Given the description of an element on the screen output the (x, y) to click on. 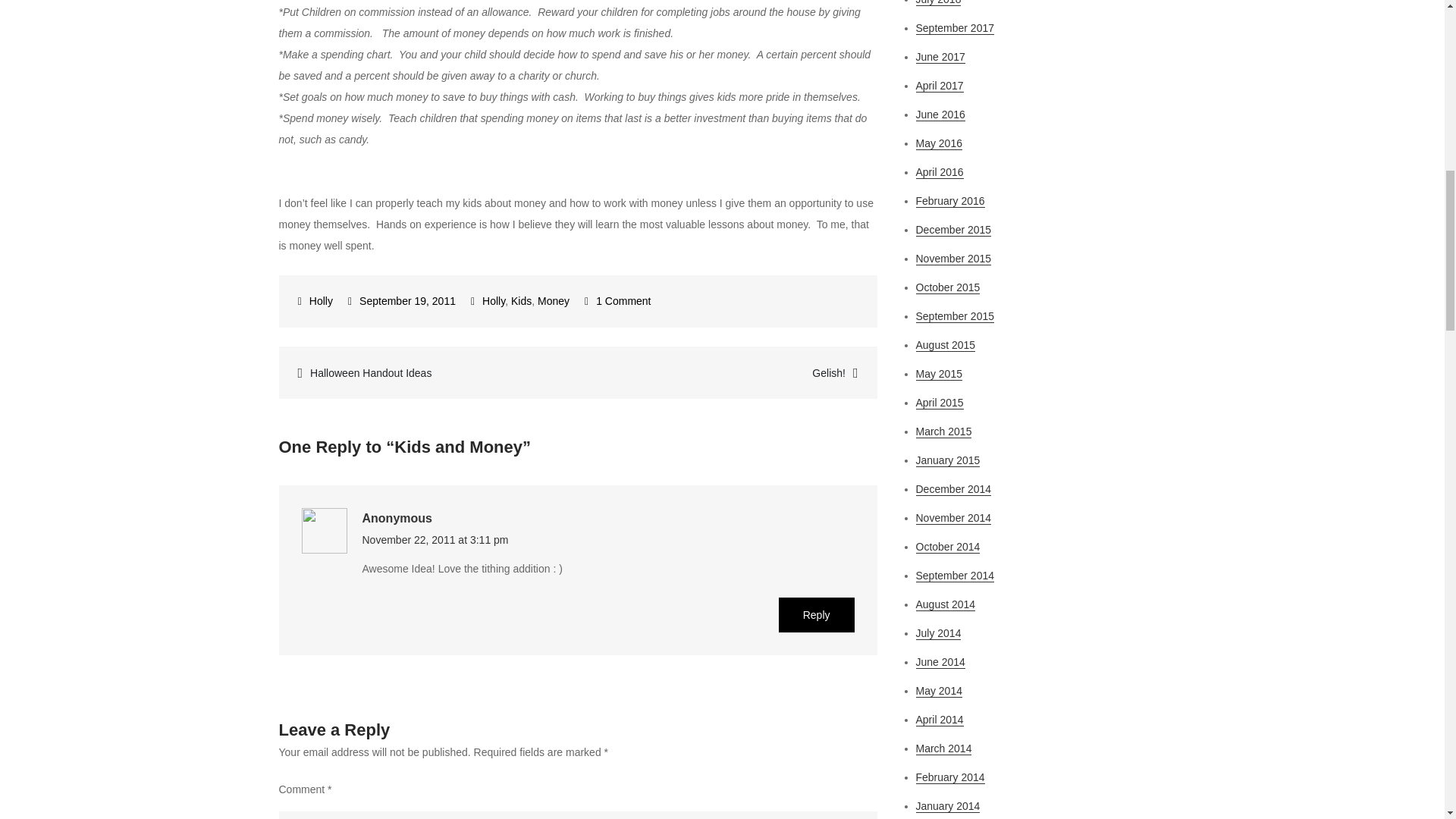
Holly (315, 300)
Halloween Handout Ideas (428, 372)
September 19, 2011 (617, 300)
Kids (401, 300)
Holly (521, 300)
Gelish! (493, 300)
Money (727, 372)
